Given the description of an element on the screen output the (x, y) to click on. 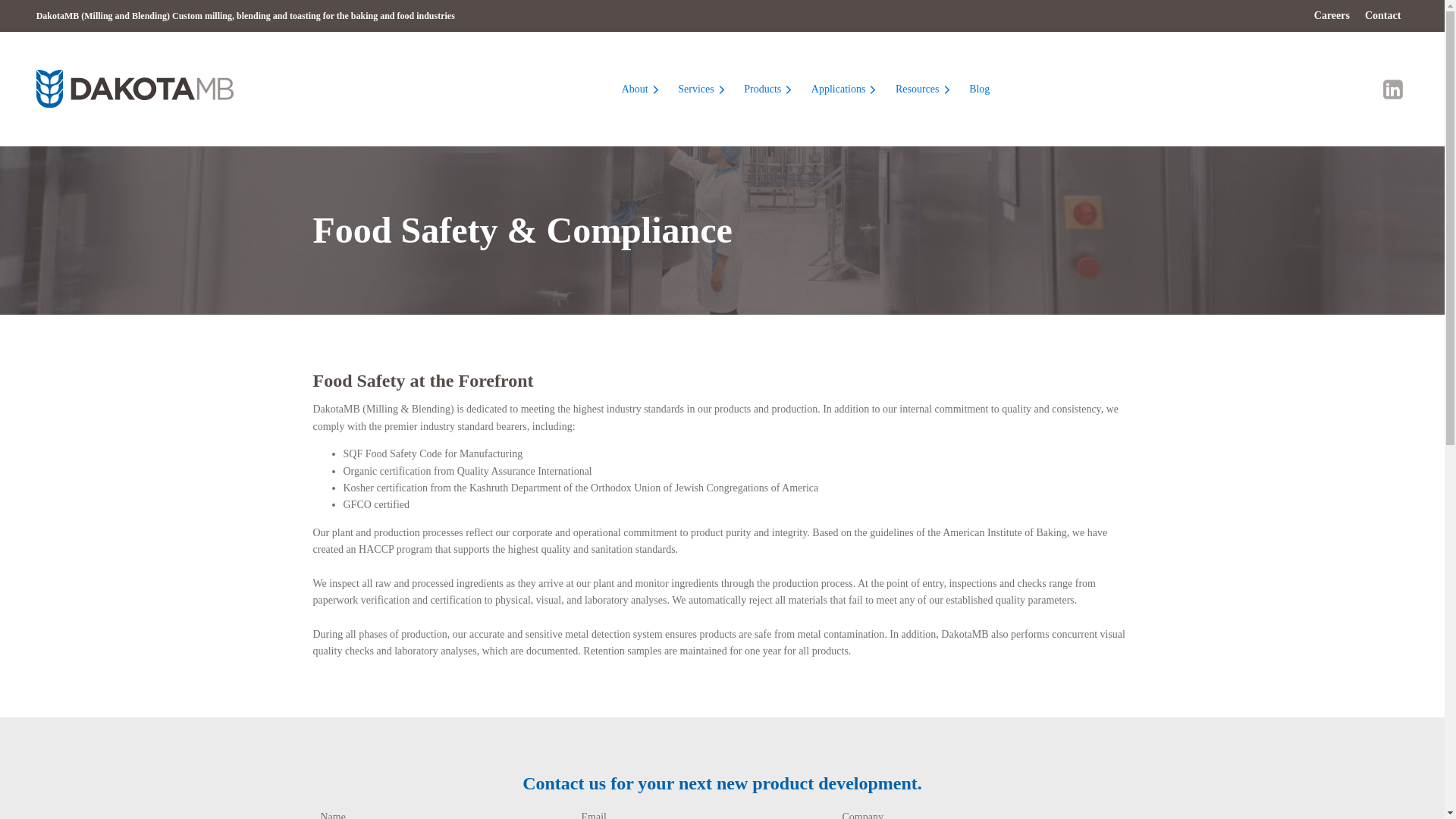
Careers (1331, 15)
Applications (845, 89)
Services (702, 89)
About (642, 89)
Contact (1381, 15)
Products (769, 89)
